Given the description of an element on the screen output the (x, y) to click on. 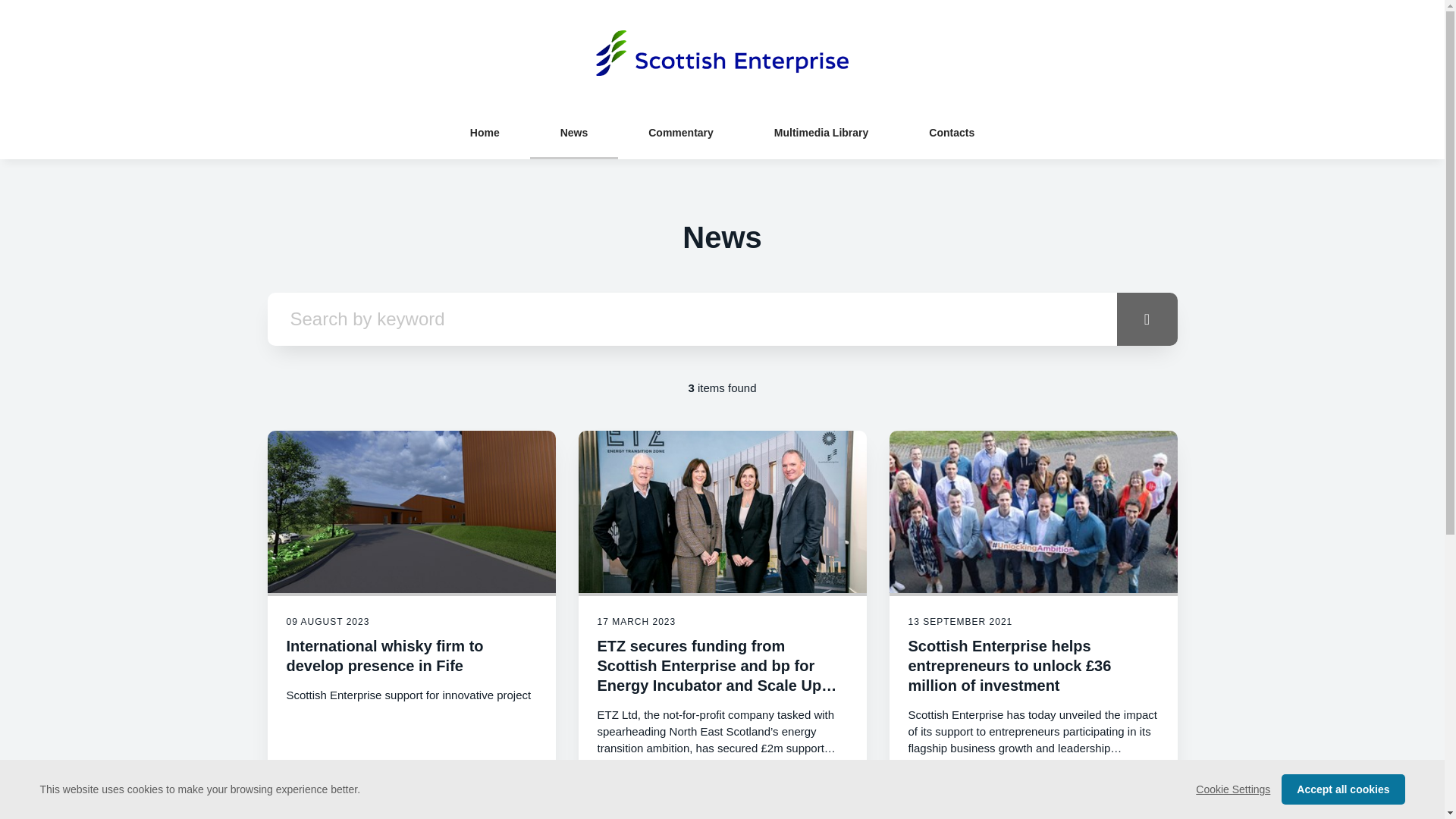
Growth finance and advice (974, 806)
Multimedia Library (821, 132)
Net Zero (623, 806)
Growth finance and advice (721, 806)
International whisky firm to develop presence in Fife (384, 656)
News (573, 132)
Commentary (680, 132)
Early stage (940, 782)
Accept all cookies (1343, 788)
Growth finance and advice (425, 806)
Home (484, 132)
International (321, 806)
Cookie Settings (1232, 788)
Net Zero (1003, 782)
Go (1146, 318)
